Given the description of an element on the screen output the (x, y) to click on. 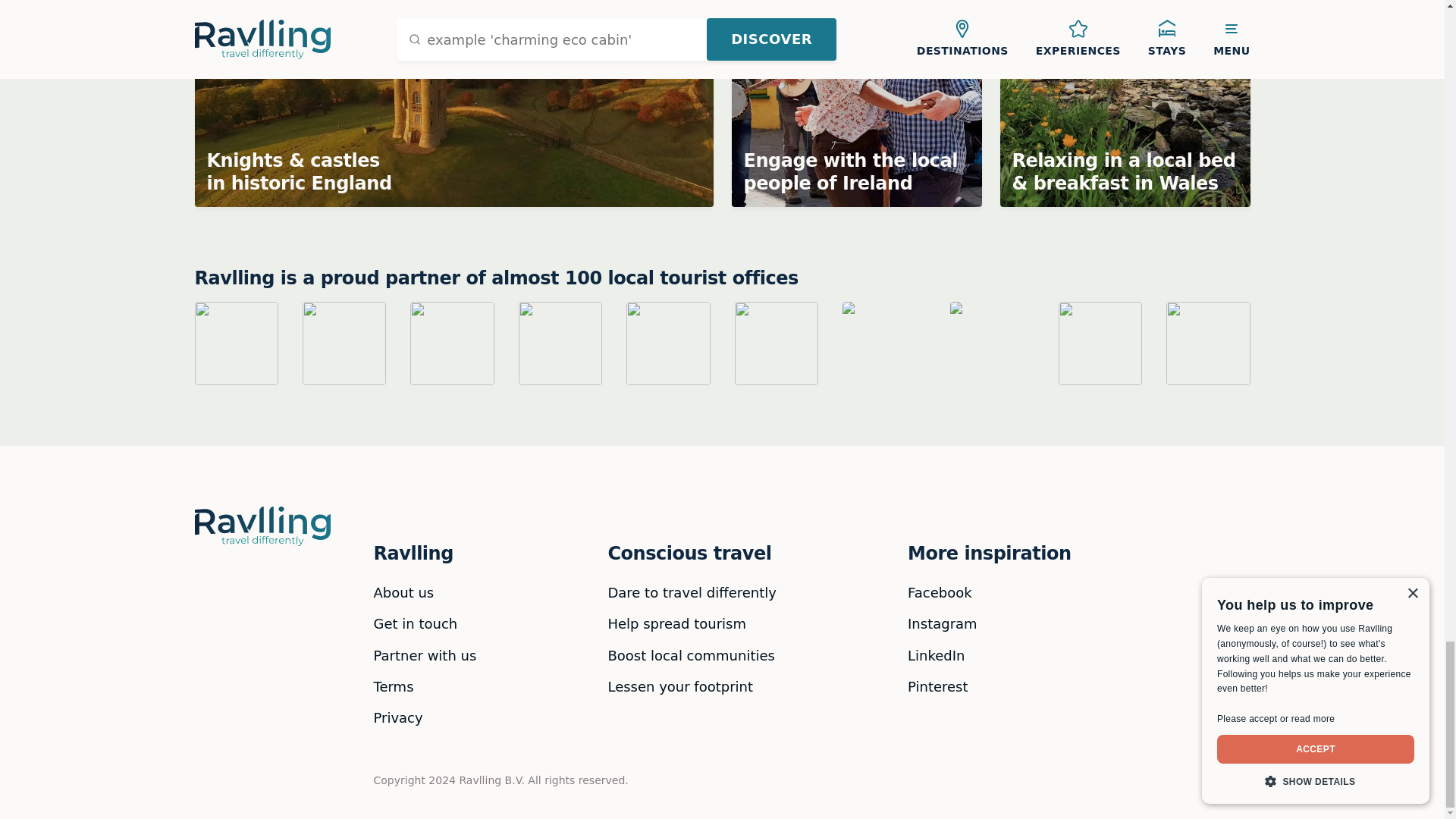
Engage with the local people of Ireland (855, 103)
